Given the description of an element on the screen output the (x, y) to click on. 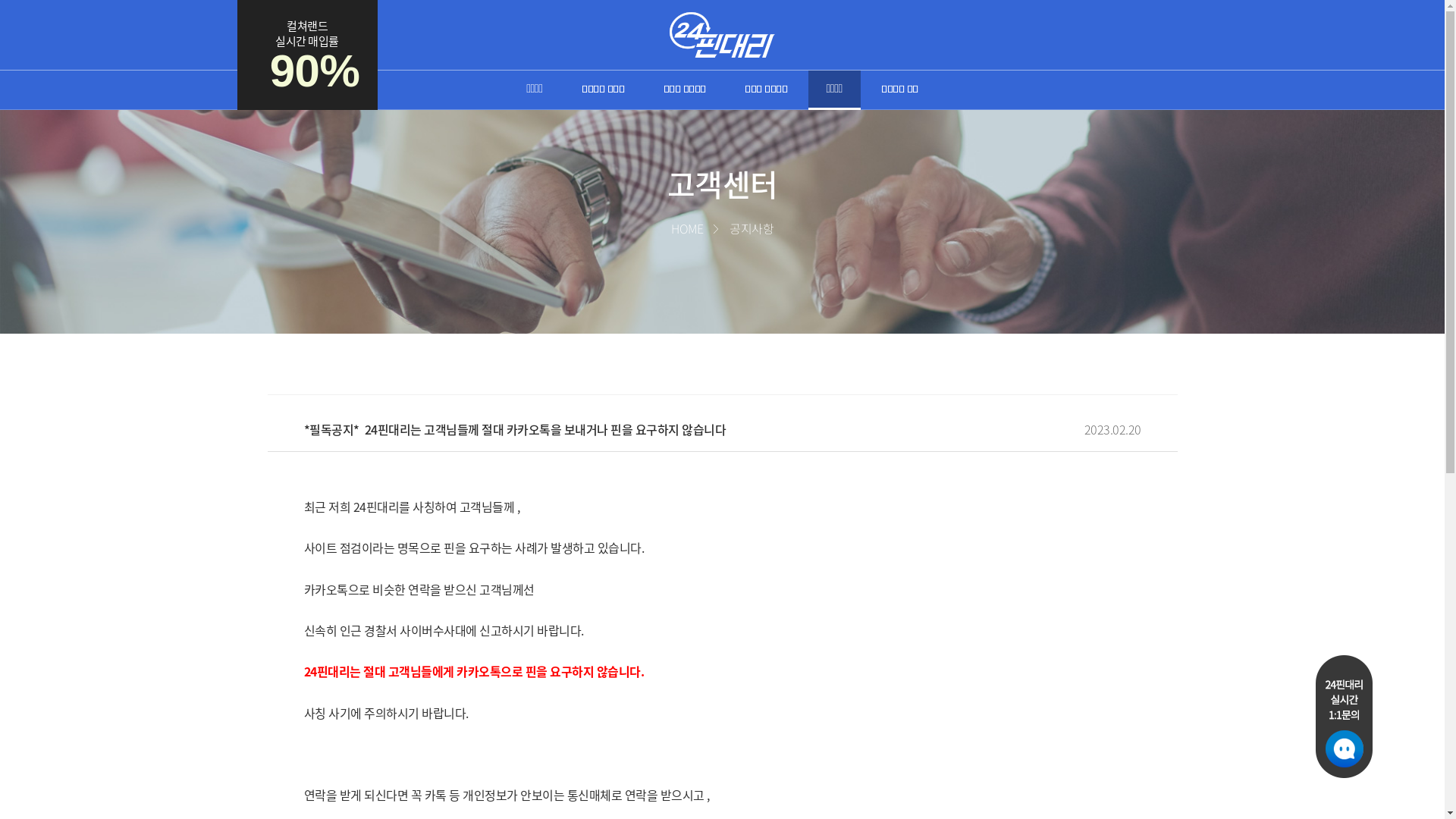
HOME Element type: text (686, 228)
Open Element type: text (1343, 716)
